Given the description of an element on the screen output the (x, y) to click on. 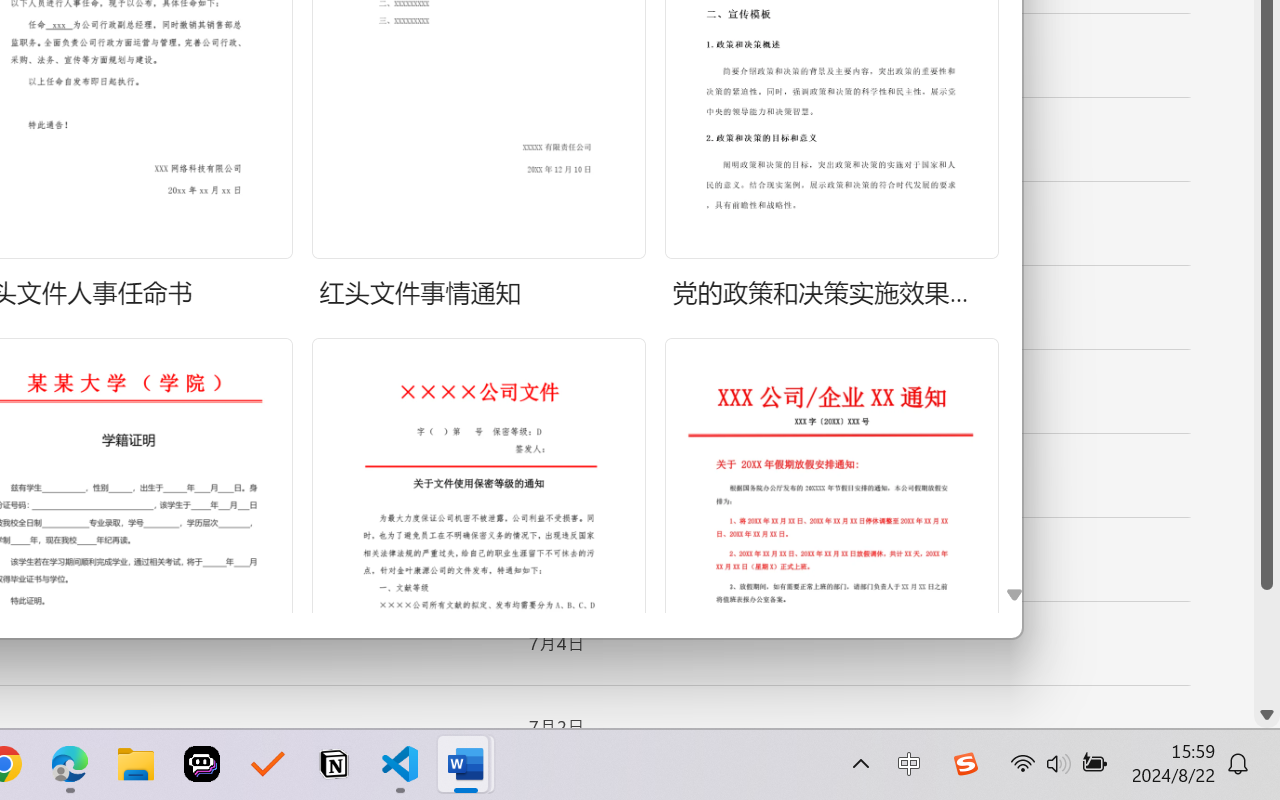
Poe (201, 764)
Notion (333, 764)
Line down (1267, 715)
Page down (1267, 646)
Class: Image (965, 764)
